Given the description of an element on the screen output the (x, y) to click on. 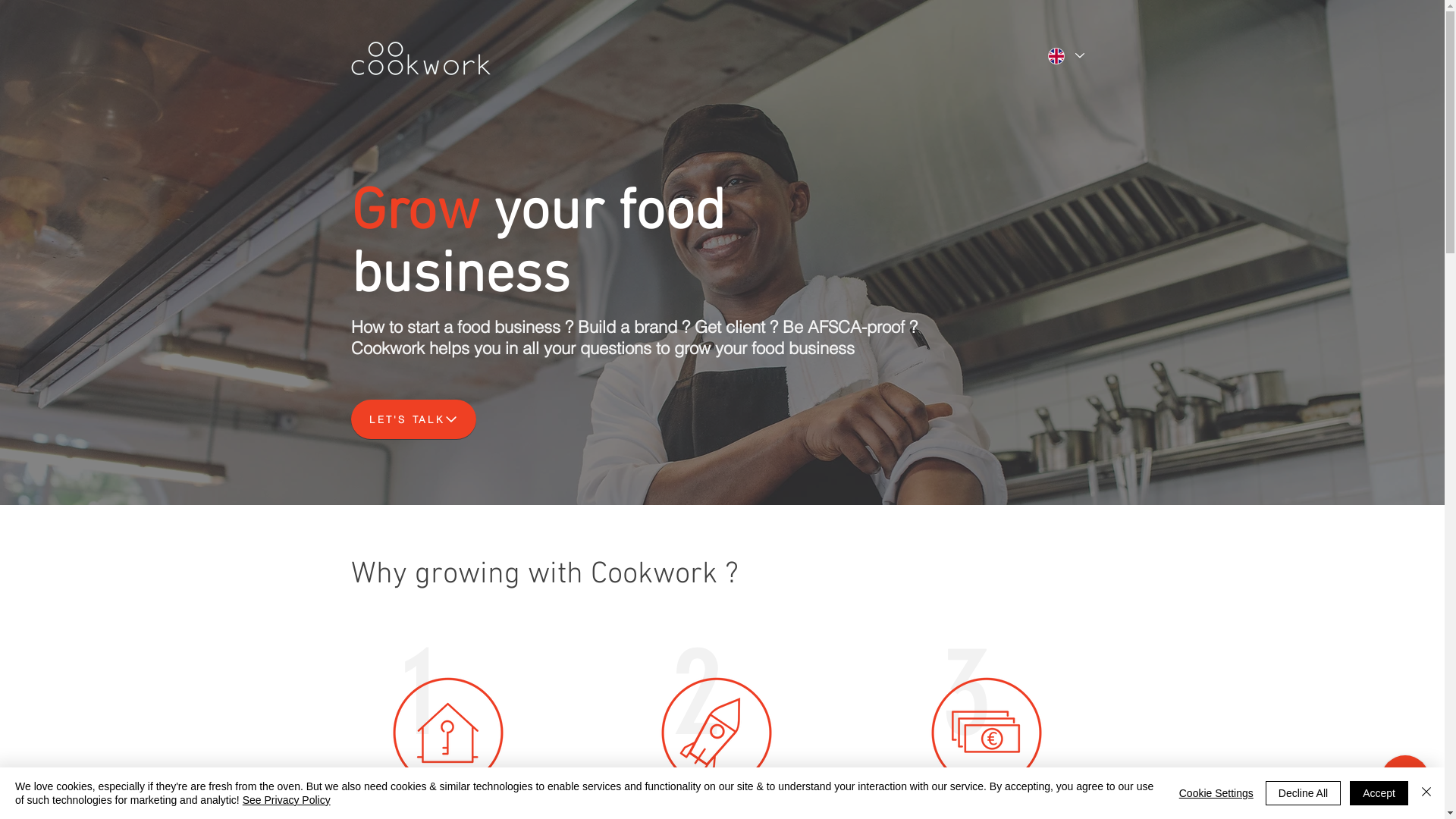
LET'S TALK Element type: text (412, 419)
Accept Element type: text (1378, 793)
Decline All Element type: text (1302, 793)
See Privacy Policy Element type: text (286, 799)
